Given the description of an element on the screen output the (x, y) to click on. 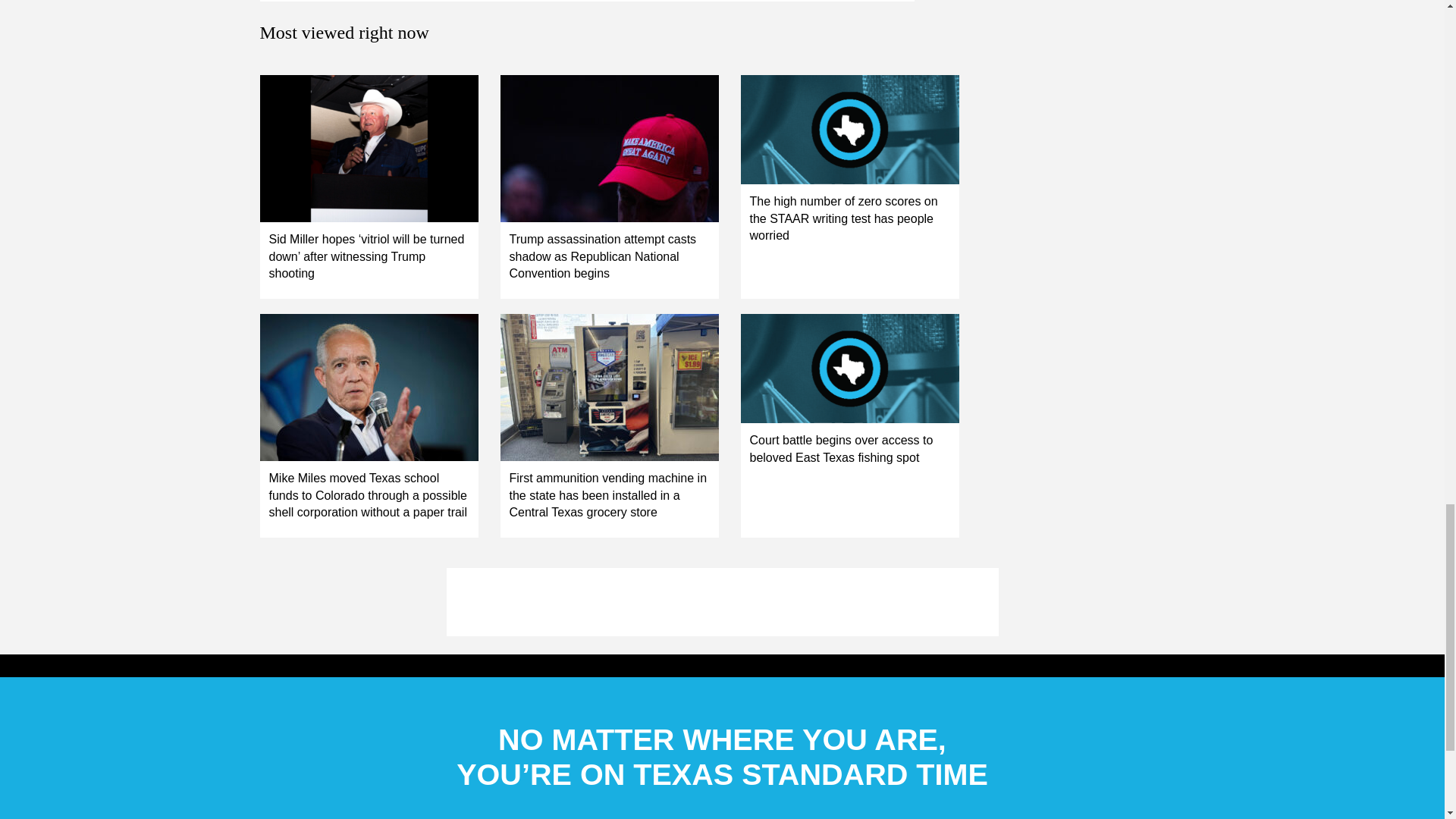
3rd party ad content (721, 602)
